Given the description of an element on the screen output the (x, y) to click on. 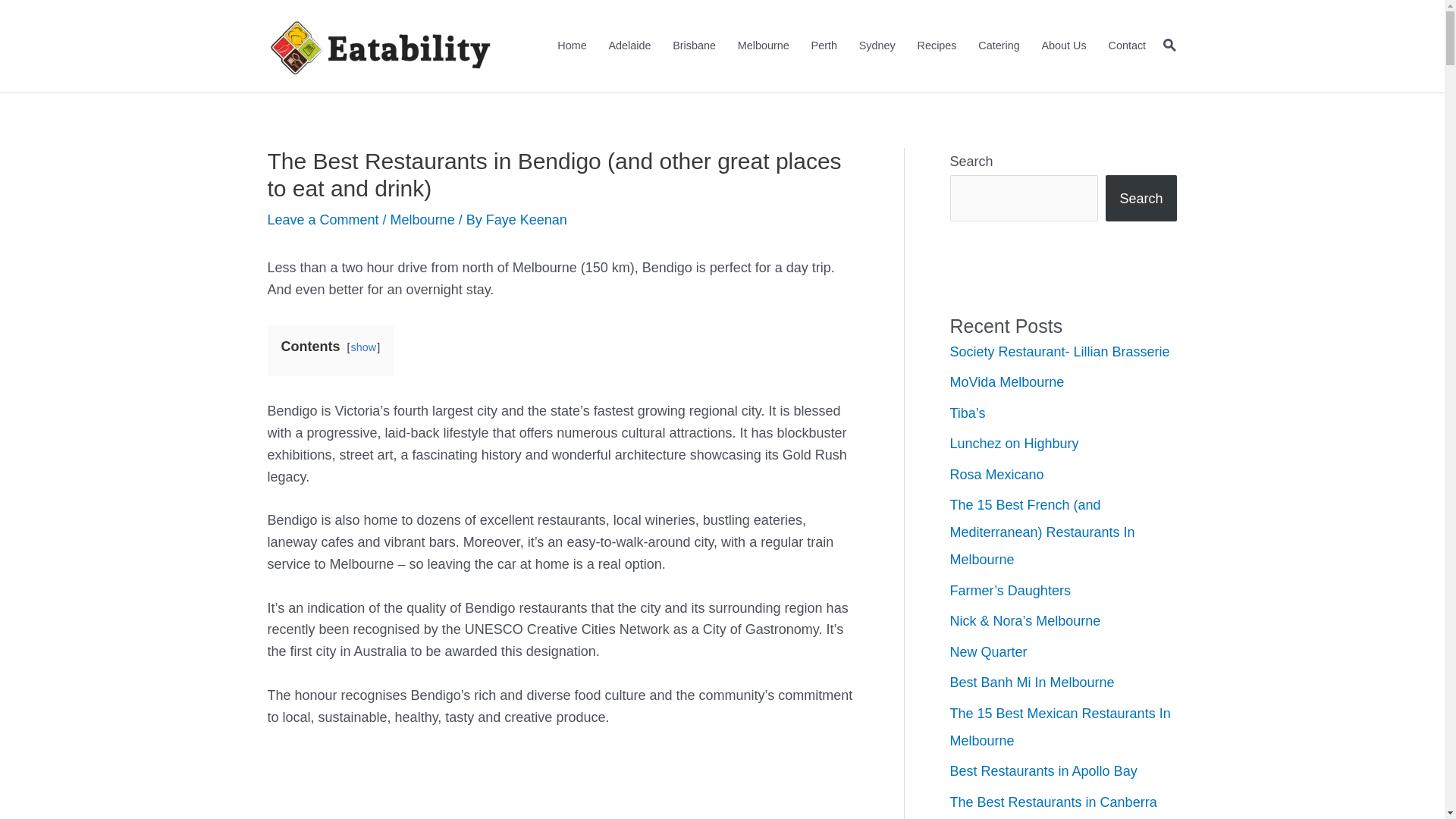
Perth Element type: text (823, 46)
Melbourne Element type: text (422, 219)
Adelaide Element type: text (629, 46)
MoVida Melbourne Element type: text (1006, 381)
The Best Restaurants in Canberra Element type: text (1052, 801)
About Us Element type: text (1063, 46)
Recipes Element type: text (936, 46)
Society Restaurant- Lillian Brasserie Element type: text (1059, 351)
Search Element type: text (1140, 198)
Best Banh Mi In Melbourne Element type: text (1031, 682)
New Quarter Element type: text (987, 651)
Brisbane Element type: text (694, 46)
Contact Element type: text (1126, 46)
Leave a Comment Element type: text (322, 219)
Home Element type: text (571, 46)
Lunchez on Highbury Element type: text (1013, 443)
Catering Element type: text (998, 46)
show Element type: text (363, 347)
Melbourne Element type: text (763, 46)
Sydney Element type: text (876, 46)
The 15 Best Mexican Restaurants In Melbourne Element type: text (1059, 727)
Best Restaurants in Apollo Bay Element type: text (1042, 770)
Faye Keenan Element type: text (526, 219)
Rosa Mexicano Element type: text (996, 474)
